Given the description of an element on the screen output the (x, y) to click on. 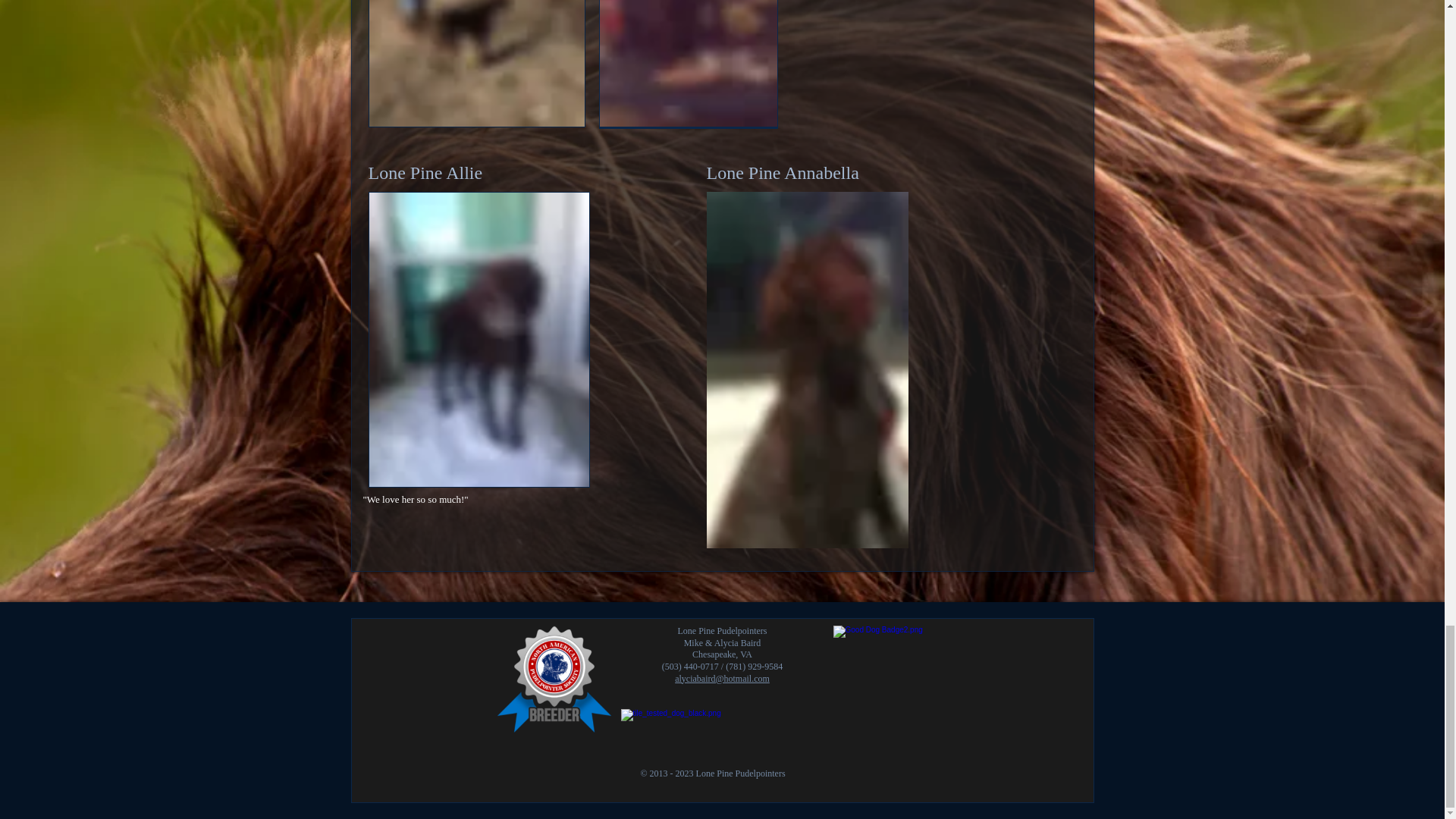
Embedded Content (566, 689)
